Given the description of an element on the screen output the (x, y) to click on. 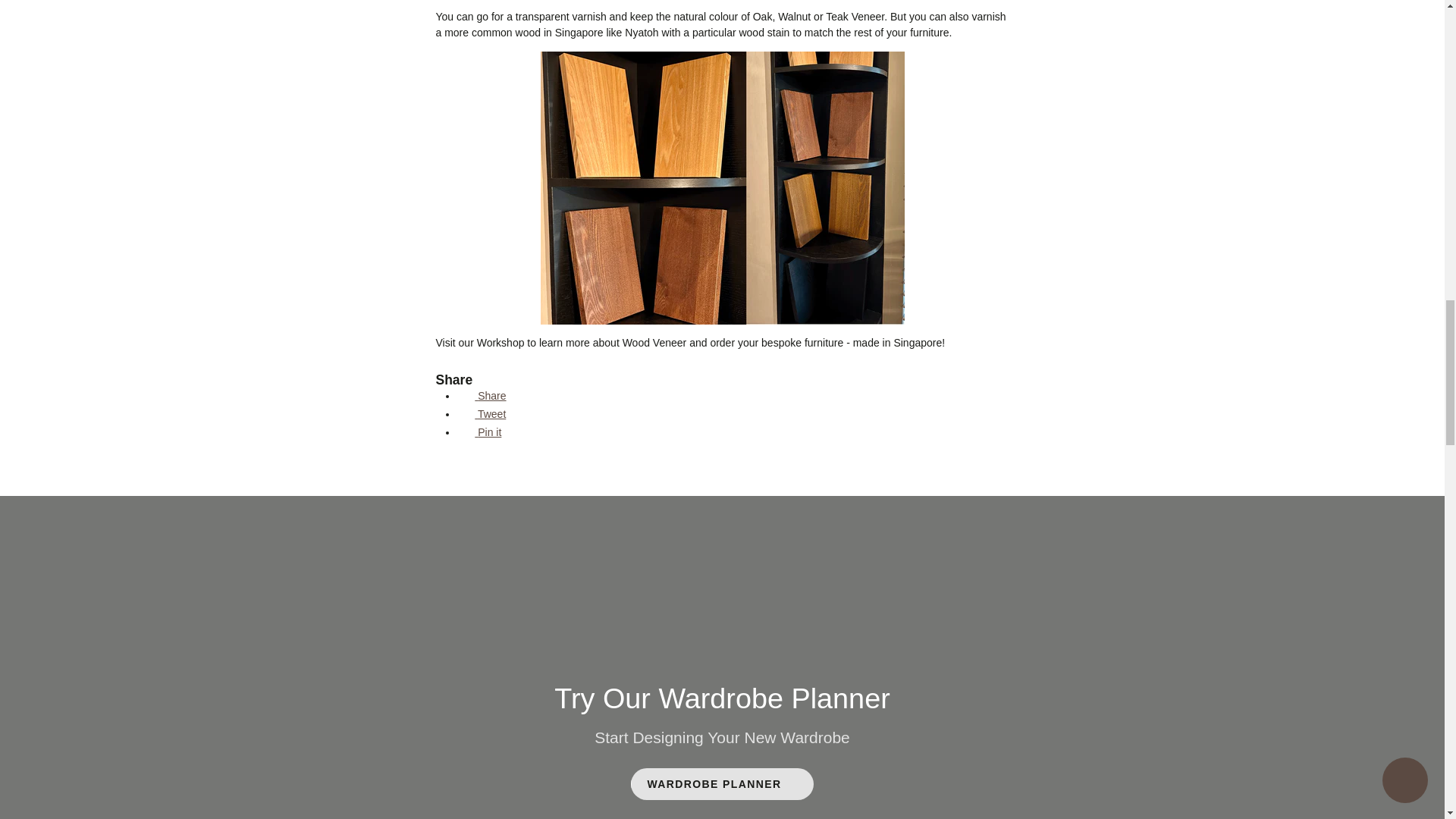
WARDROBE PLANNER (721, 783)
